Given the description of an element on the screen output the (x, y) to click on. 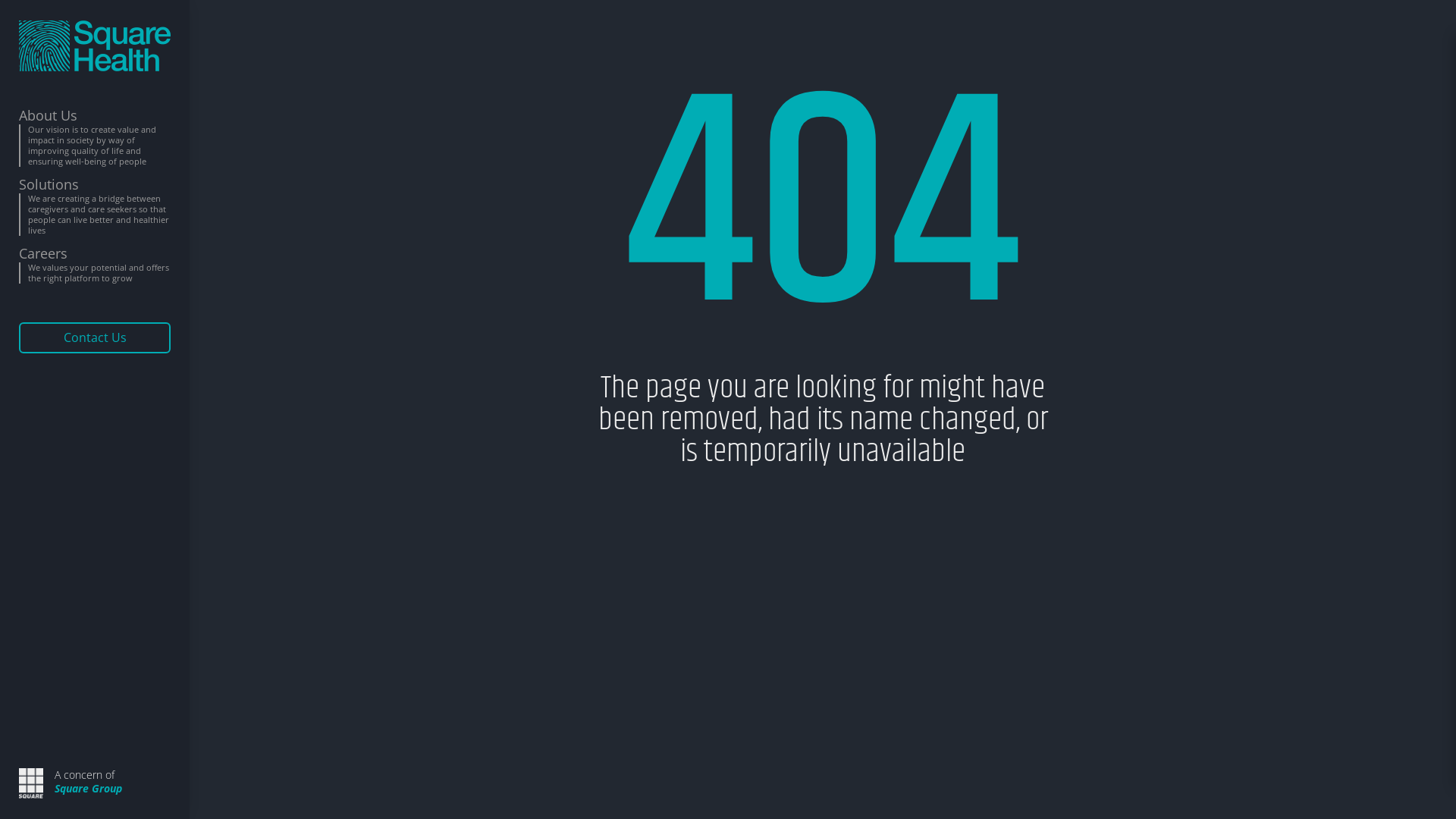
Square Group Element type: text (88, 788)
Contact Us Element type: text (94, 337)
square-health Element type: hover (94, 45)
